Given the description of an element on the screen output the (x, y) to click on. 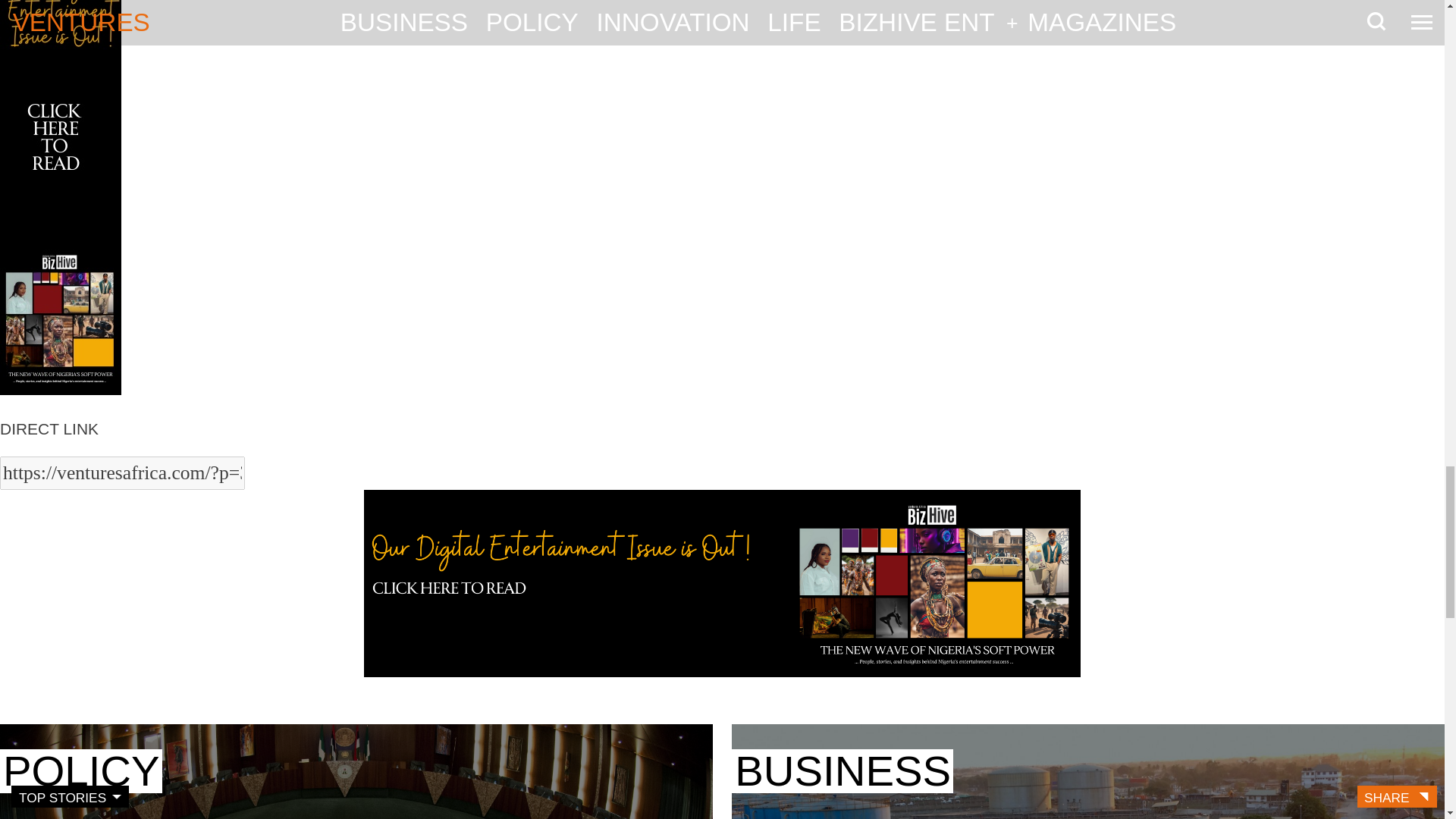
BUSINESS (842, 770)
POLICY (80, 770)
